Given the description of an element on the screen output the (x, y) to click on. 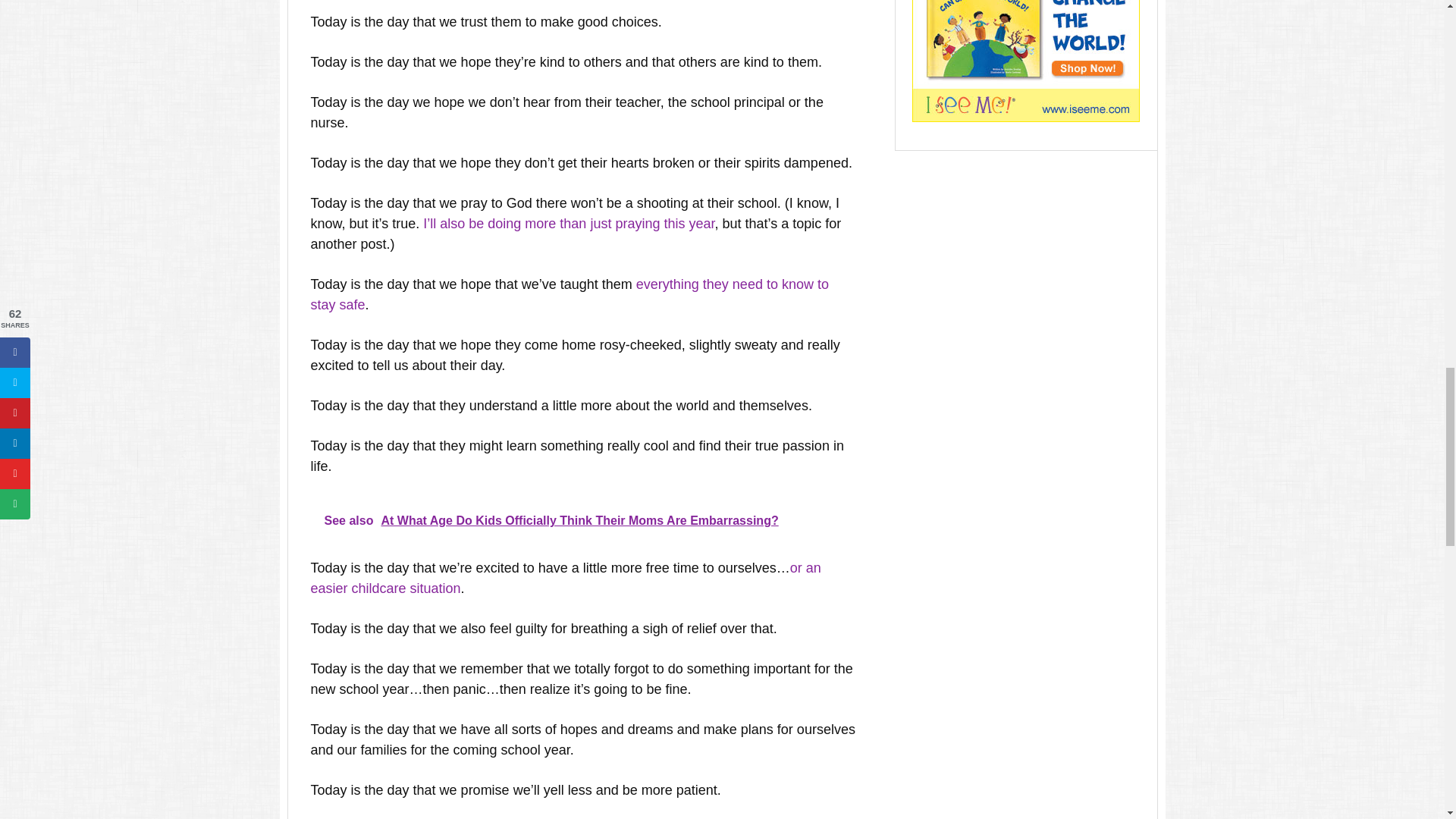
everything they need to know to stay safe (569, 294)
or an easier childcare situation (566, 578)
